Given the description of an element on the screen output the (x, y) to click on. 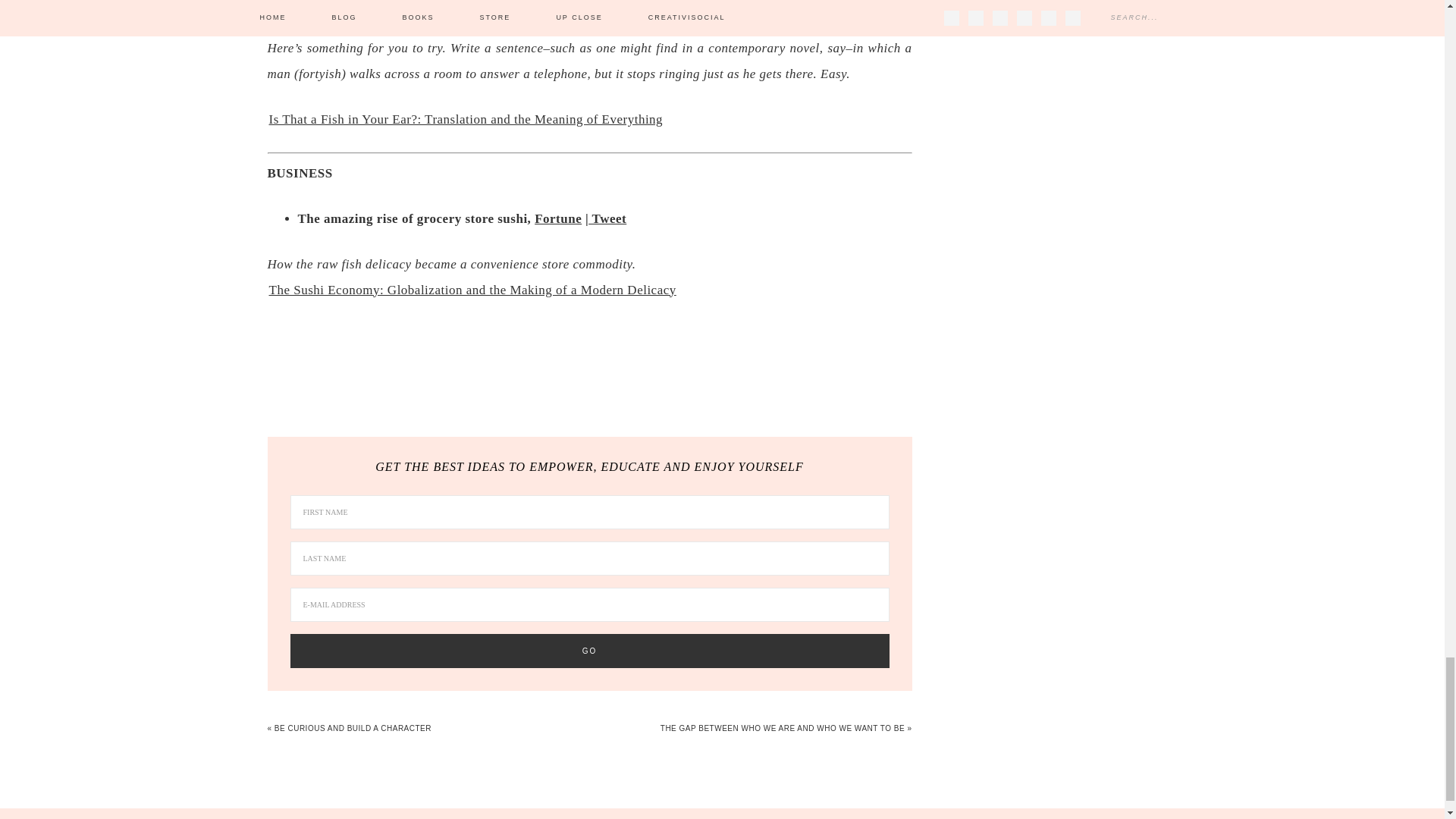
Go (588, 650)
